Given the description of an element on the screen output the (x, y) to click on. 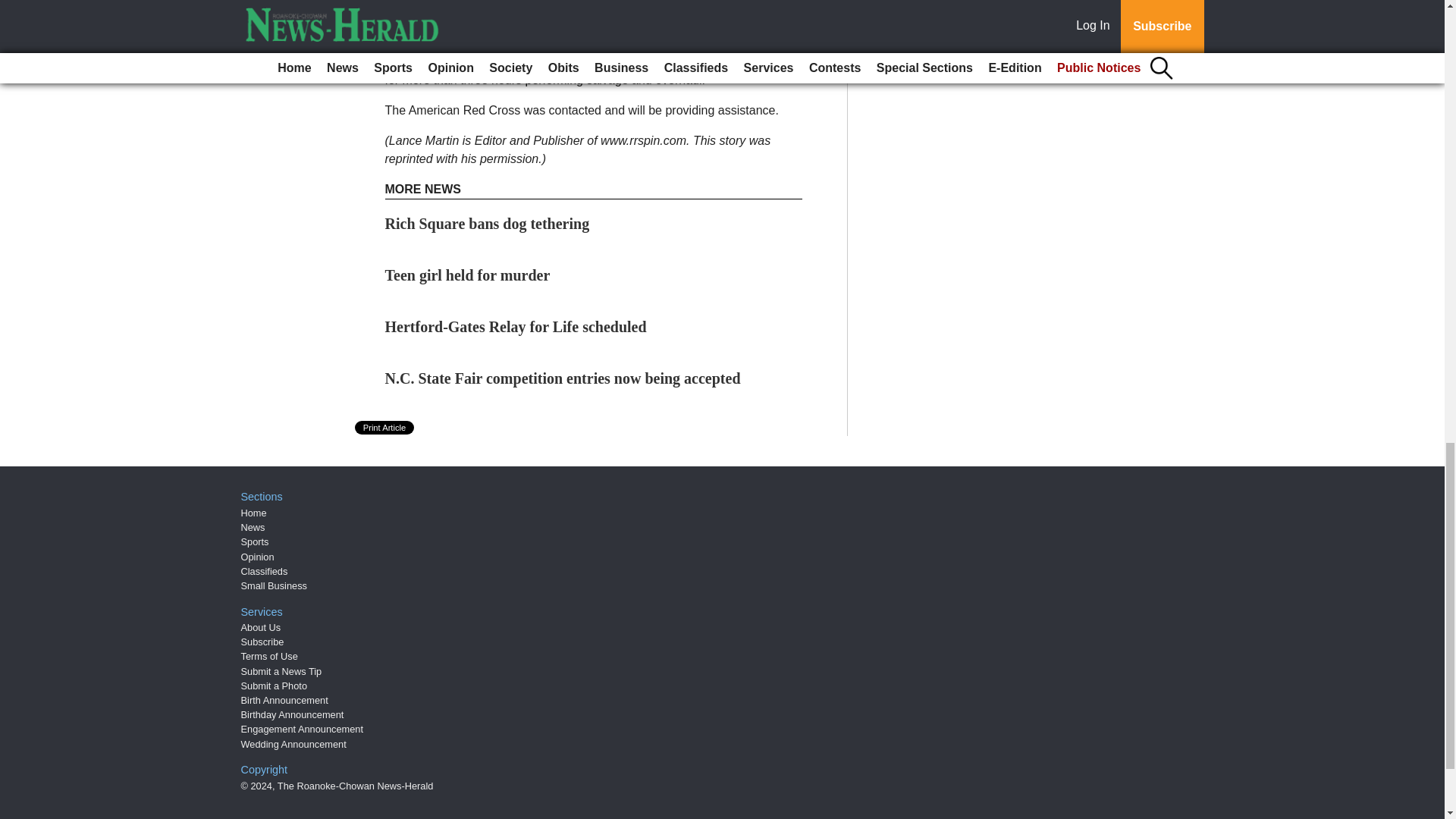
Teen girl held for murder (467, 274)
Hertford-Gates Relay for Life scheduled (515, 326)
N.C. State Fair competition entries now being accepted (563, 378)
N.C. State Fair competition entries now being accepted (563, 378)
Teen girl held for murder (467, 274)
Rich Square bans dog tethering (487, 223)
Hertford-Gates Relay for Life scheduled (515, 326)
Print Article (384, 427)
Rich Square bans dog tethering (487, 223)
